Given the description of an element on the screen output the (x, y) to click on. 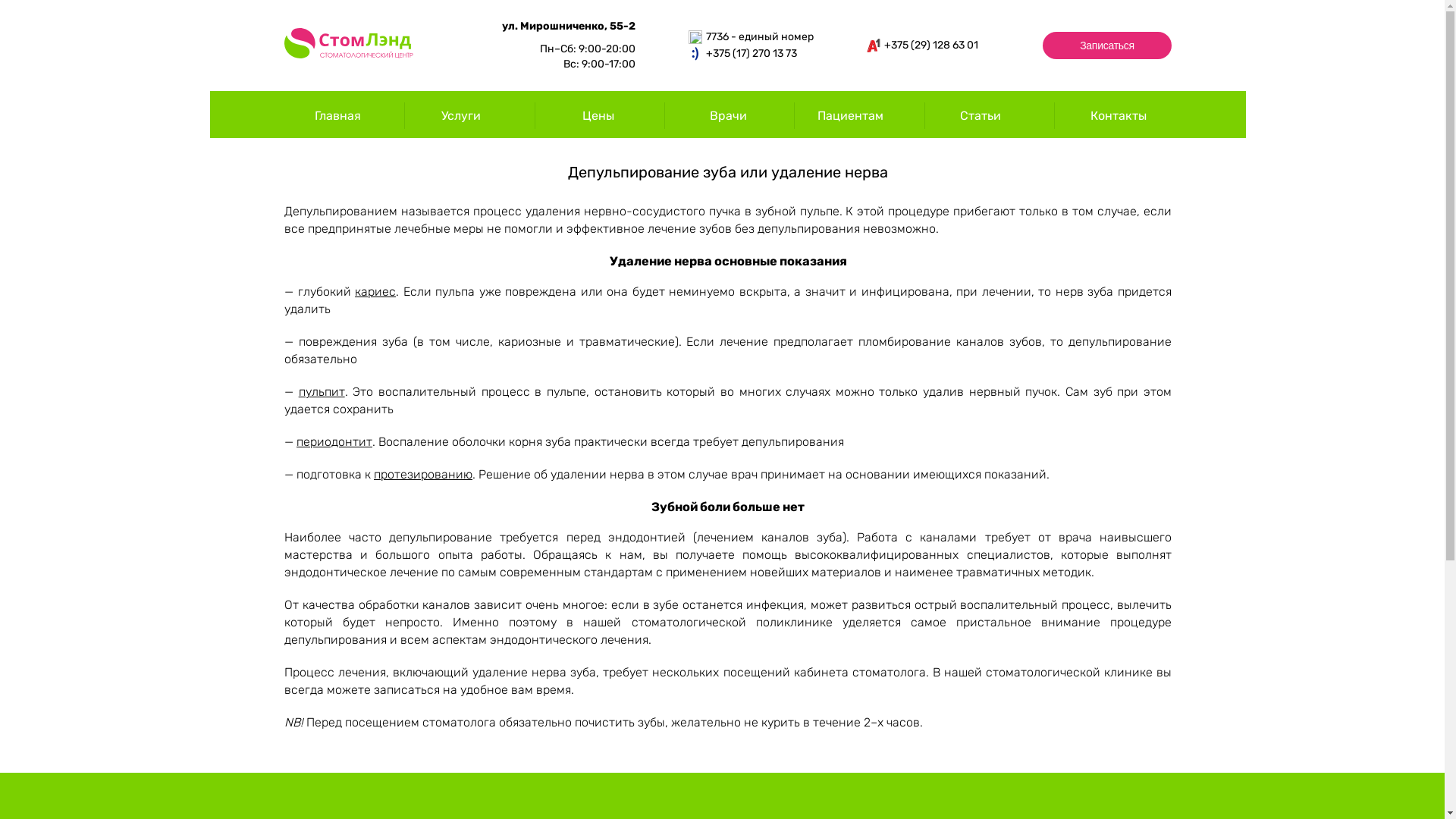
+375 (29) 128 63 01 Element type: text (916, 45)
+375 (17) 270 13 73 Element type: text (745, 53)
